Given the description of an element on the screen output the (x, y) to click on. 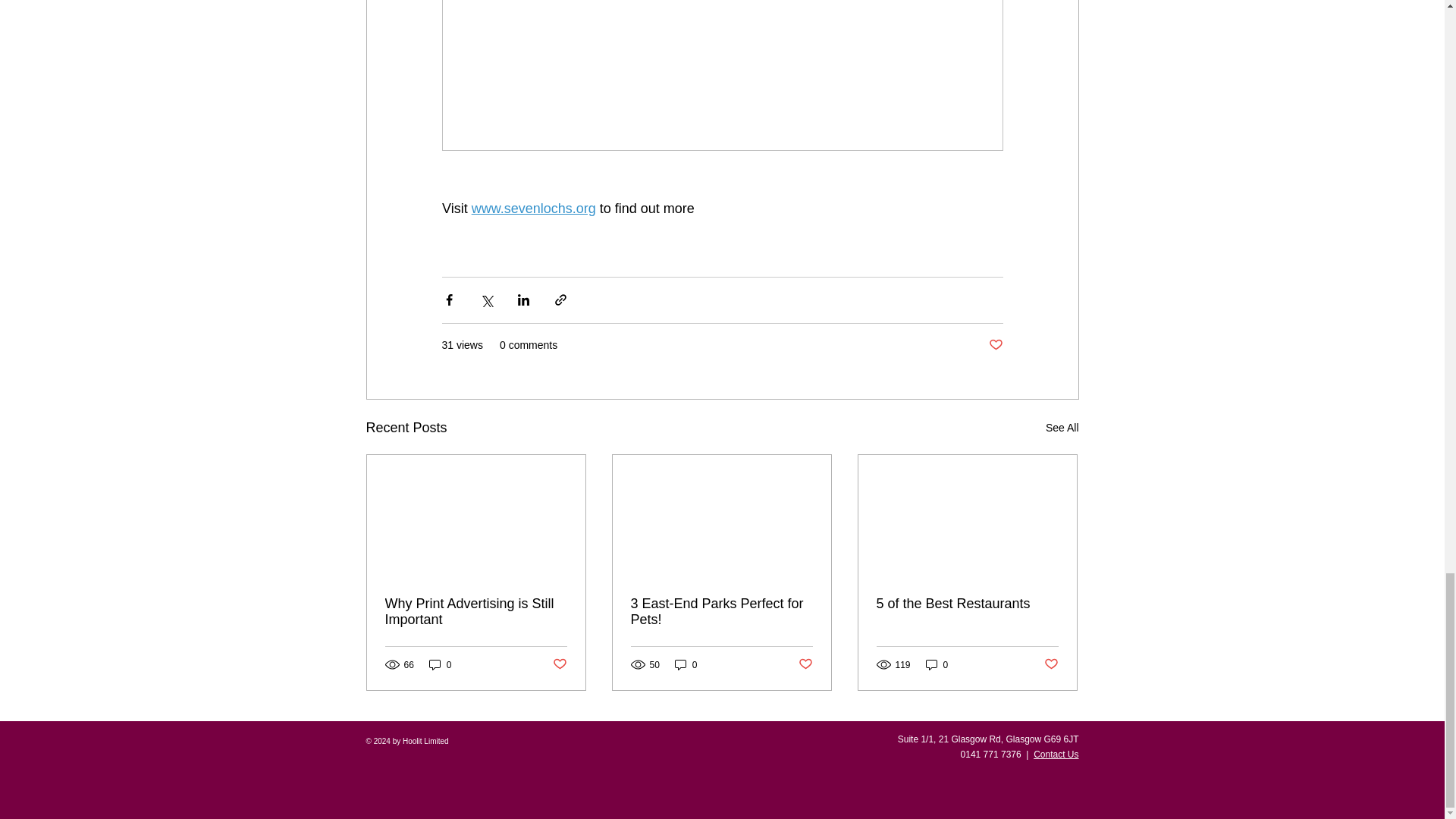
0 (937, 664)
0 (440, 664)
0141 771 7376 (991, 754)
0 (685, 664)
Post not marked as liked (1050, 664)
Post not marked as liked (804, 664)
Post not marked as liked (558, 664)
3 East-End Parks Perfect for Pets! (721, 612)
www.sevenlochs.org (532, 208)
Why Print Advertising is Still Important (476, 612)
